Given the description of an element on the screen output the (x, y) to click on. 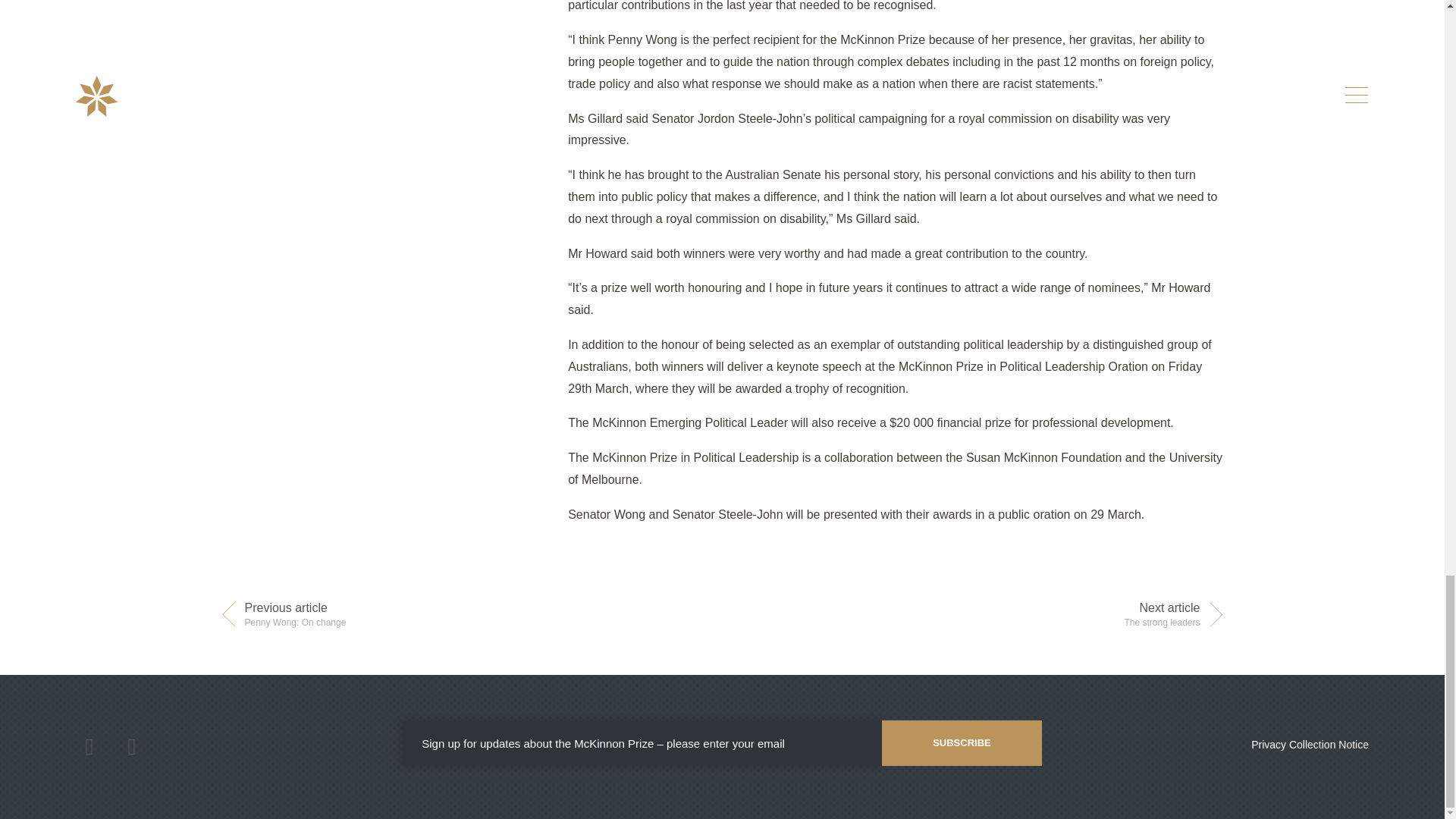
Follow Susan McKinnon Foundation on LinkedIn (131, 746)
Subscribe (962, 742)
Follow Susan McKinnon Foundation on Twitter (89, 746)
Privacy Collection Notice (295, 615)
Subscribe (1309, 744)
